Given the description of an element on the screen output the (x, y) to click on. 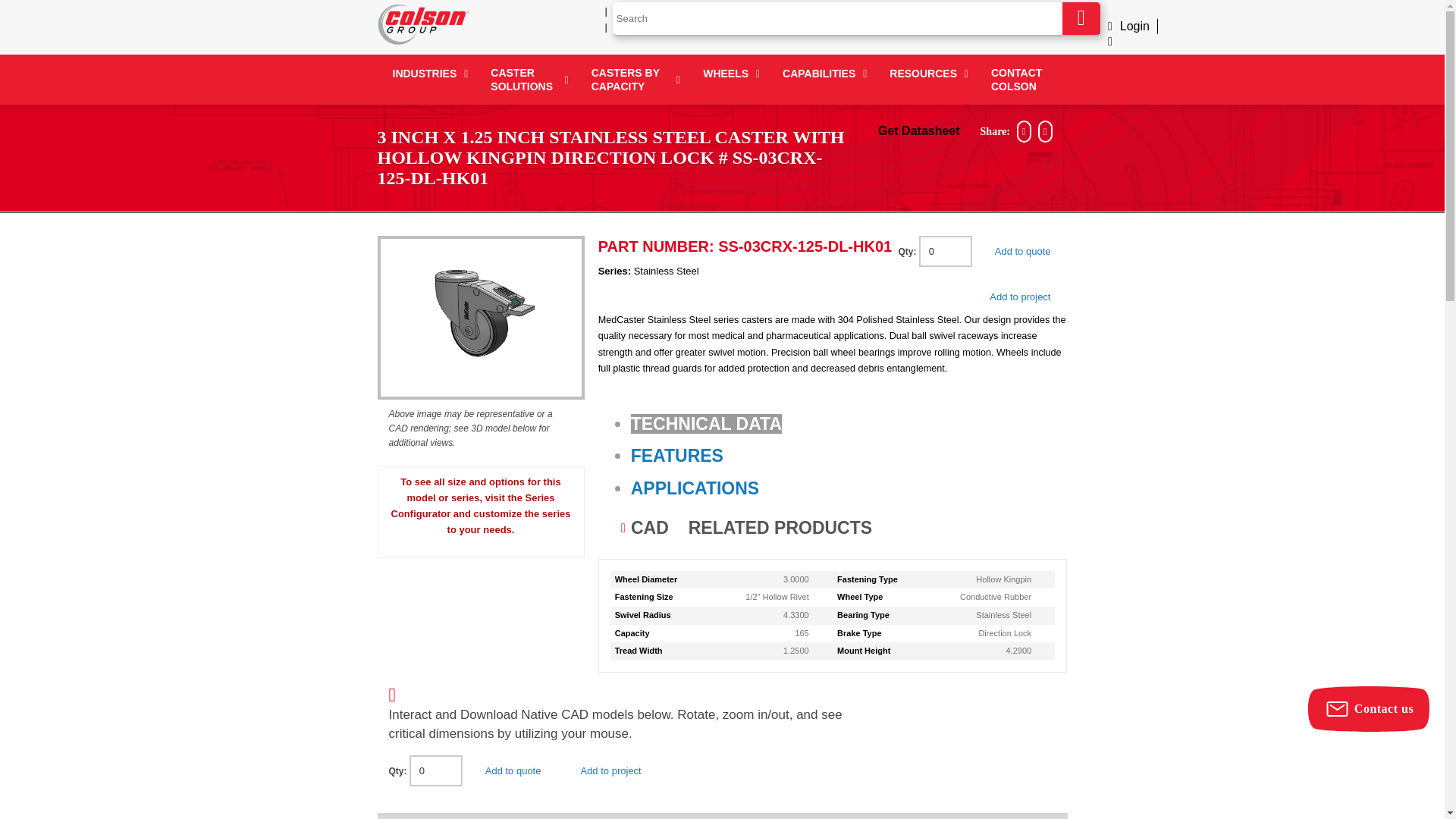
Login (1129, 25)
INDUSTRIES (426, 72)
Get PDF Datasheet (918, 130)
0 (436, 770)
0 (945, 250)
CASTER SOLUTIONS (525, 79)
